Given the description of an element on the screen output the (x, y) to click on. 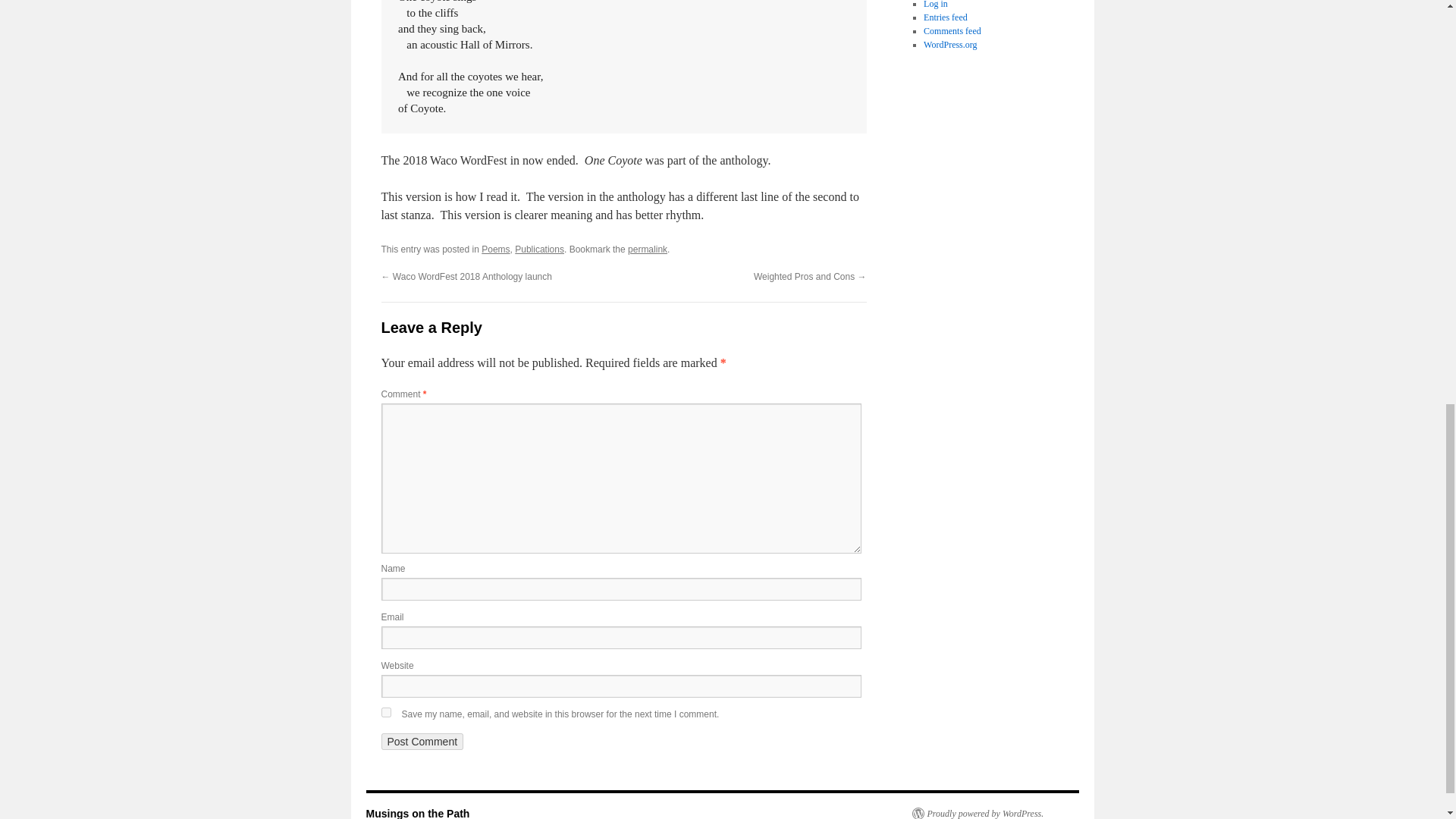
Permalink to One Coyote (646, 249)
Comments feed (952, 30)
Publications (539, 249)
Post Comment (421, 741)
Poems (495, 249)
Entries feed (945, 17)
Log in (935, 4)
permalink (646, 249)
yes (385, 712)
Post Comment (421, 741)
